Given the description of an element on the screen output the (x, y) to click on. 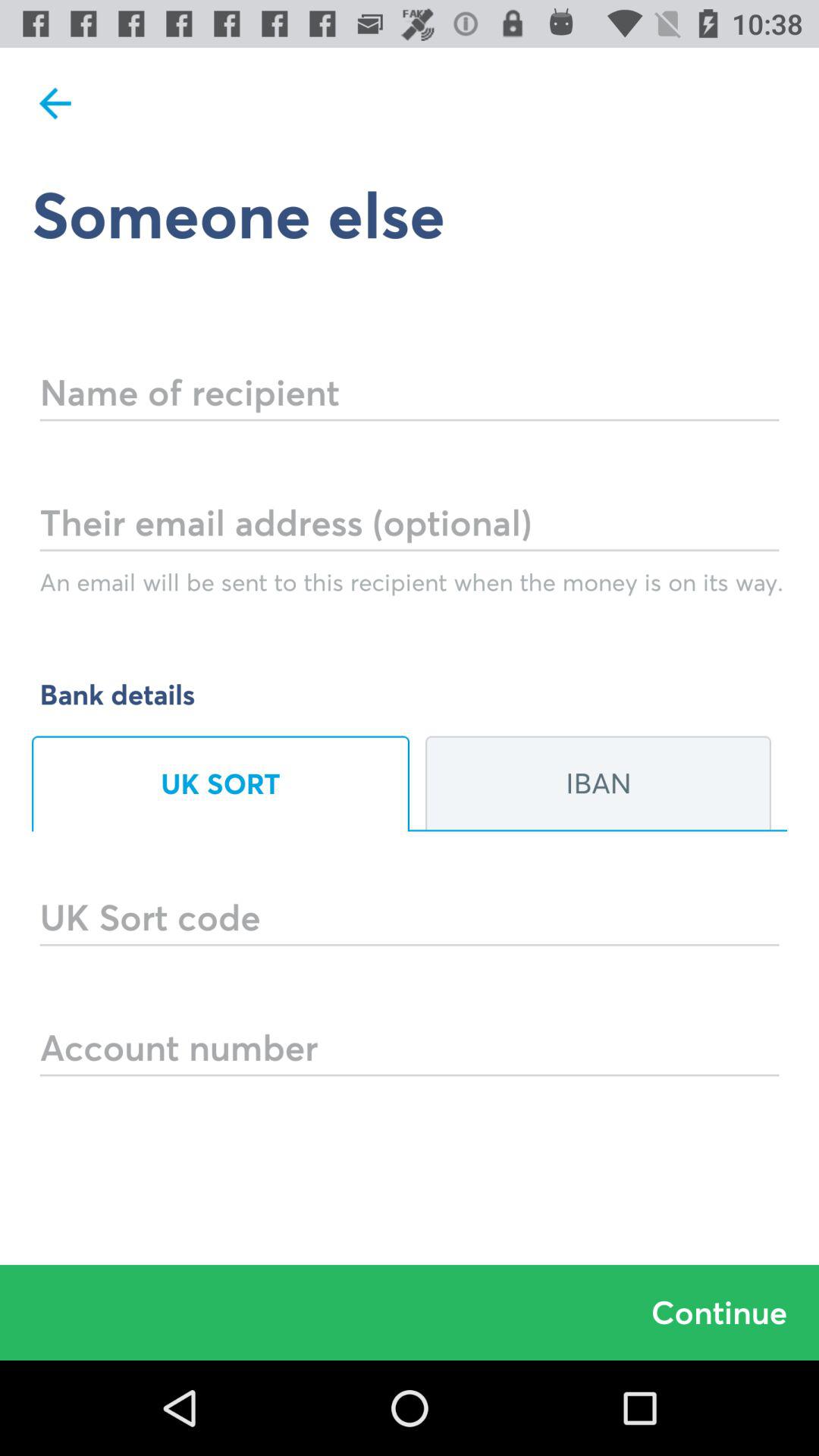
click the icon below the bank details icon (598, 783)
